Given the description of an element on the screen output the (x, y) to click on. 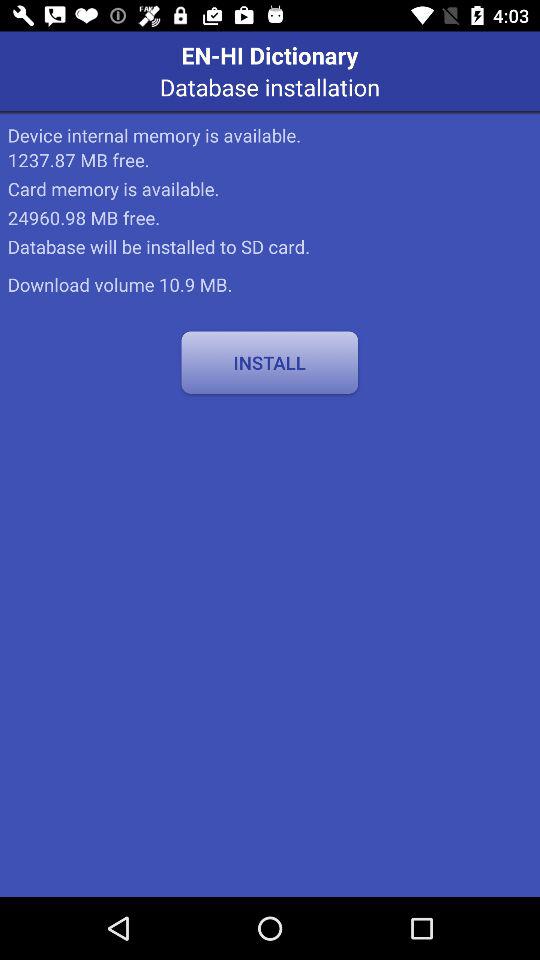
launch install (269, 362)
